Given the description of an element on the screen output the (x, y) to click on. 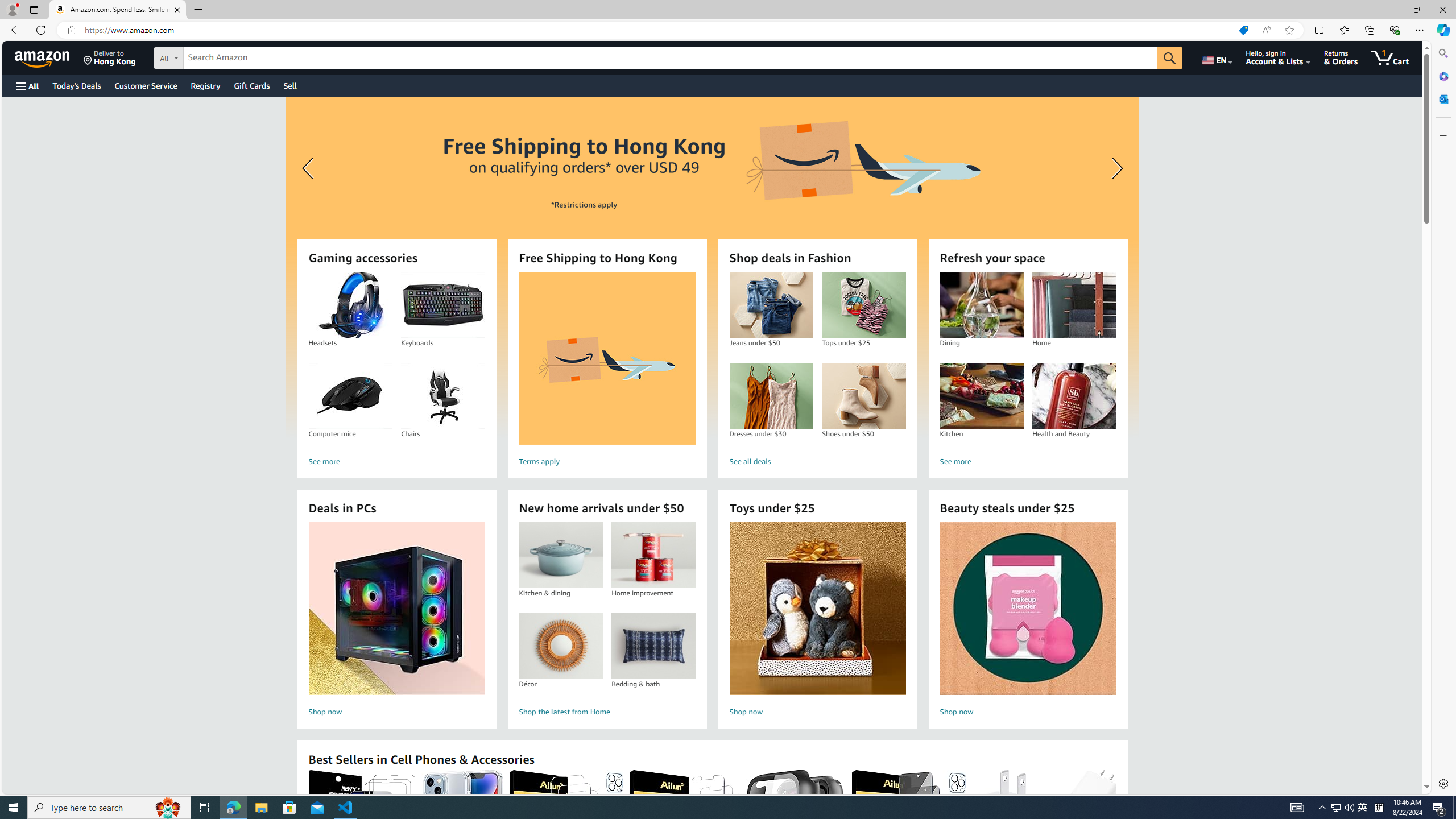
Search in (210, 56)
Hello, sign in Account & Lists (1278, 57)
Free Shipping to Hong Kong (606, 357)
Beauty steals under $25 (1027, 608)
Amazon.com. Spend less. Smile more. (117, 9)
Kitchen & dining (560, 555)
Previous slide (309, 168)
Sell (290, 85)
Dining (981, 304)
Free Shipping to Hong Kong Learn more (711, 267)
